Given the description of an element on the screen output the (x, y) to click on. 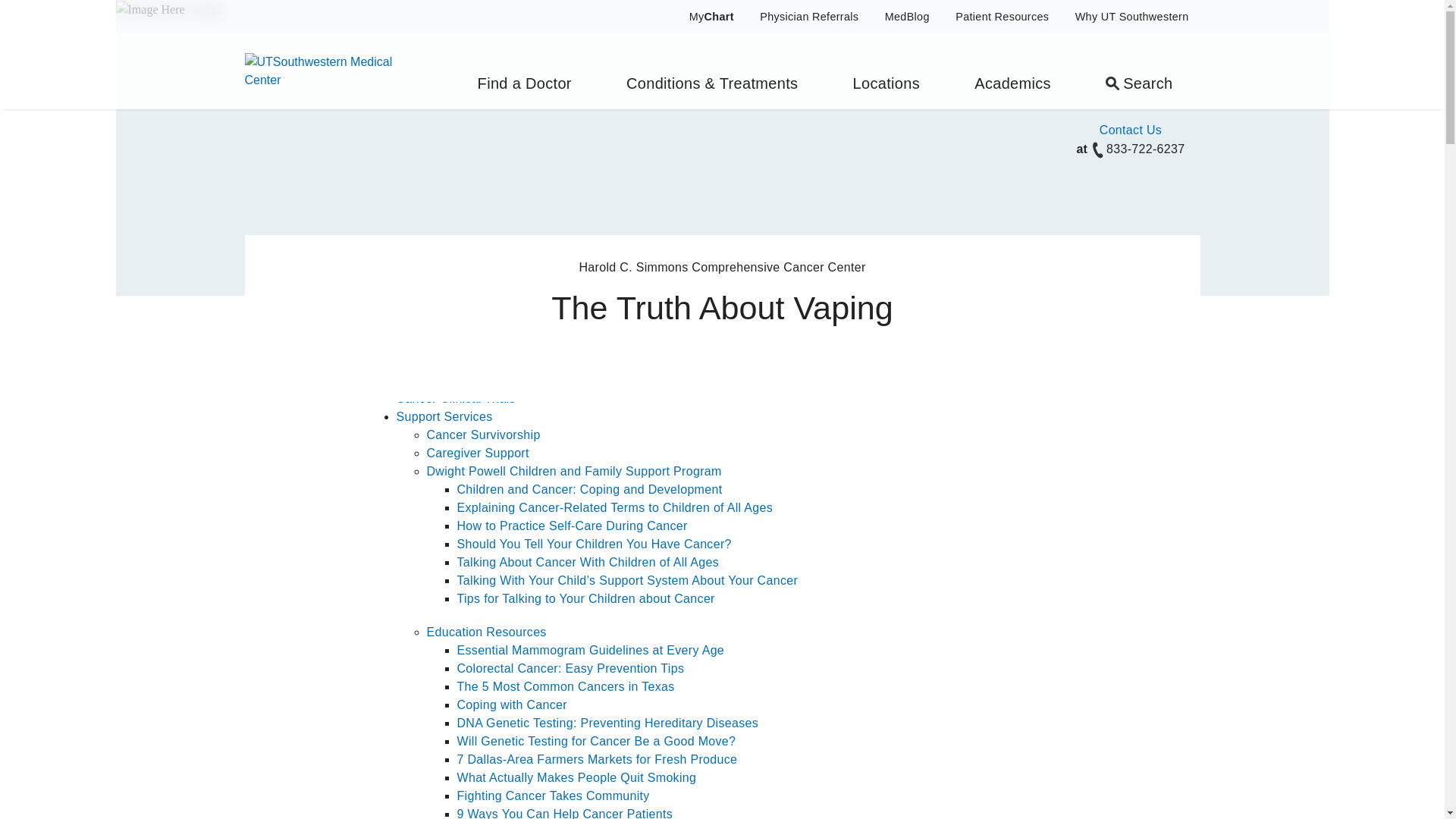
Search (1138, 70)
Why UT Southwestern (1131, 17)
Academics (1012, 70)
Harold C. Simmons Comprehensive Cancer Center (548, 379)
Physician Referrals (808, 17)
MyChart (702, 17)
Contact Us (1130, 129)
Call (1097, 149)
MedBlog (906, 17)
Visit the homepage (331, 69)
